Given the description of an element on the screen output the (x, y) to click on. 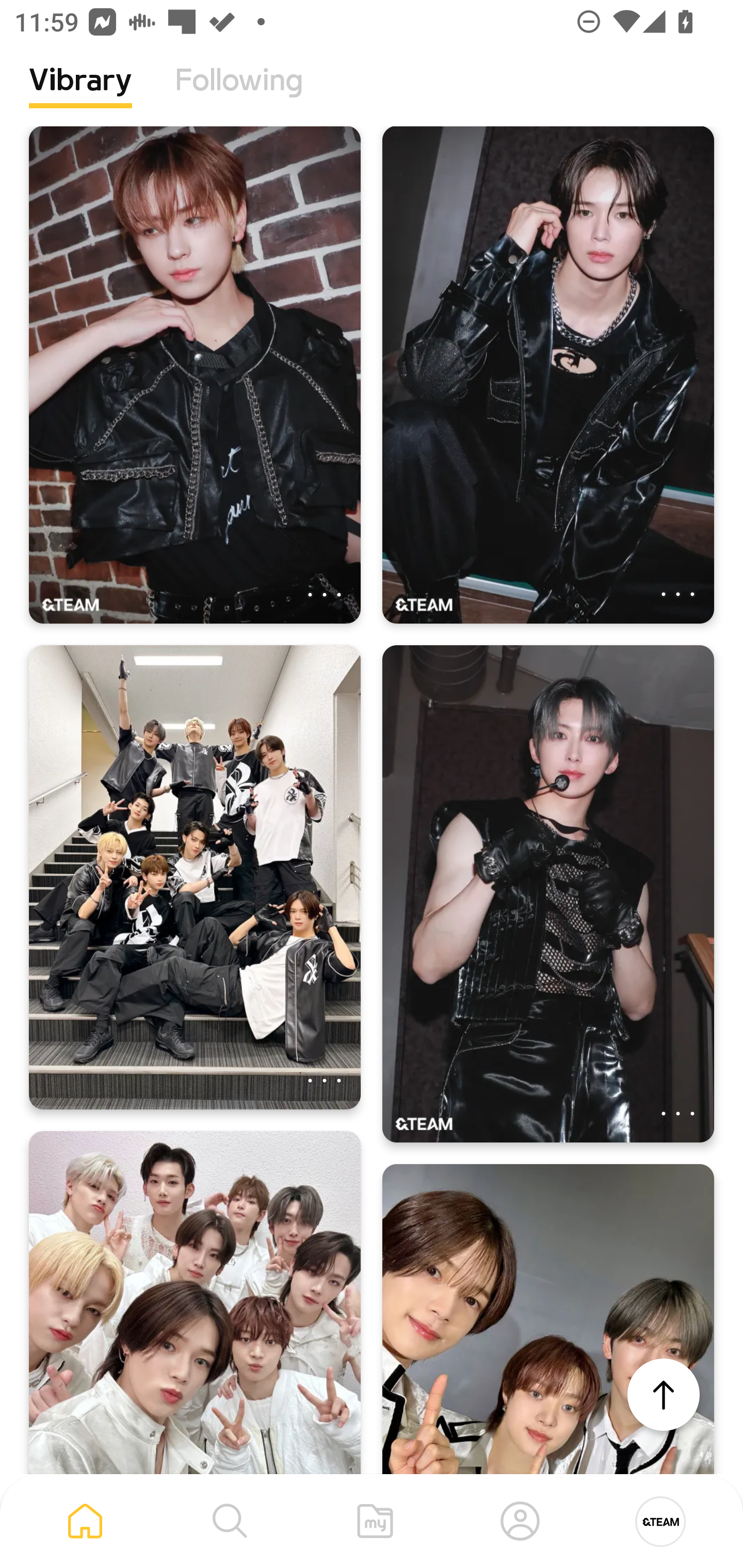
Vibrary (80, 95)
Following (239, 95)
